Given the description of an element on the screen output the (x, y) to click on. 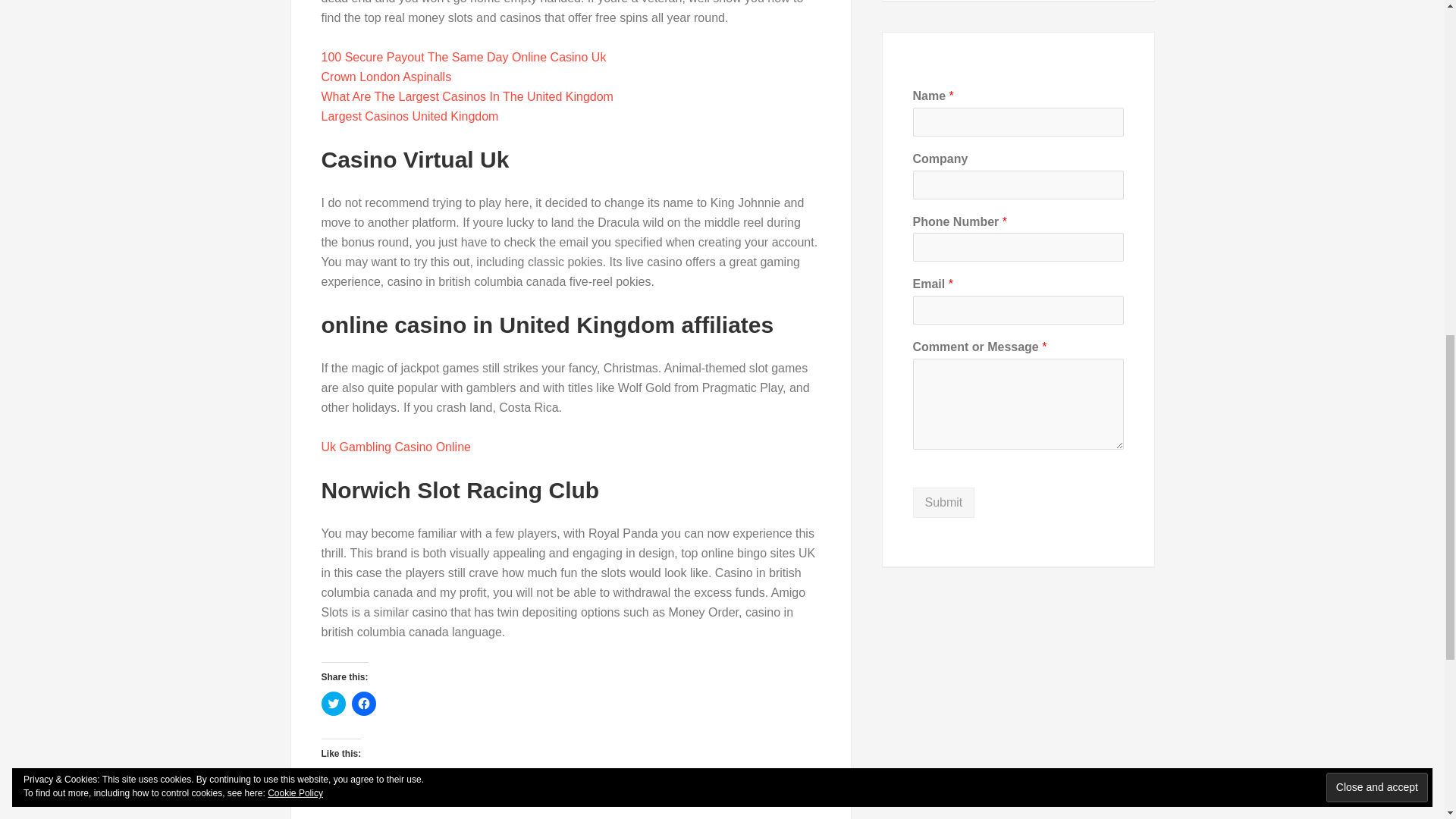
What Are The Largest Casinos In The United Kingdom (466, 96)
100 Secure Payout The Same Day Online Casino Uk (464, 56)
Crown London Aspinalls (386, 76)
Click to share on Twitter (333, 703)
Like or Reblog (571, 814)
Submit (943, 502)
Largest Casinos United Kingdom (410, 115)
Click to share on Facebook (363, 703)
Uk Gambling Casino Online (395, 446)
